Given the description of an element on the screen output the (x, y) to click on. 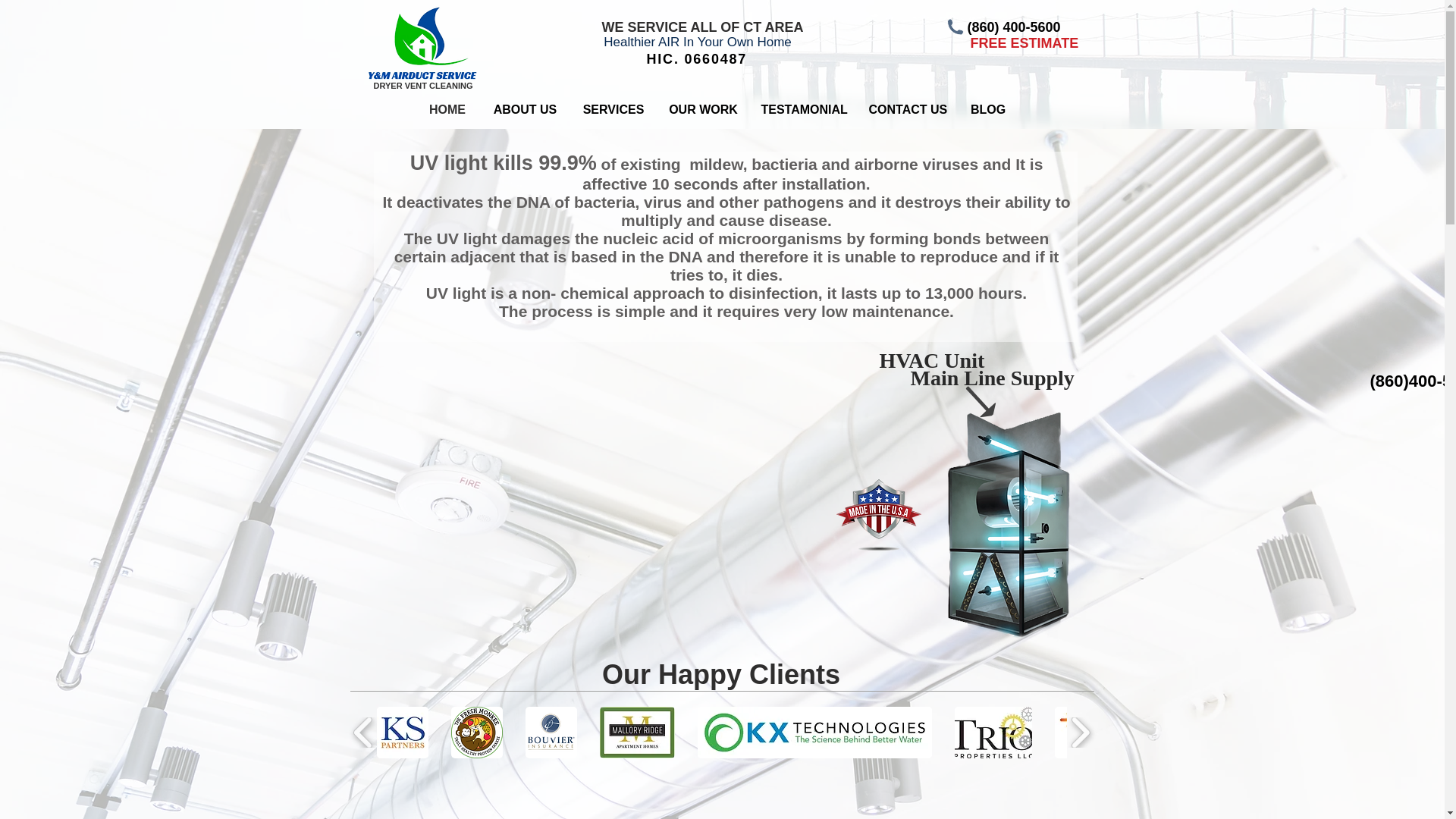
OUR WORK (702, 109)
BLOG (988, 109)
ABOUT US (525, 109)
SERVICES (614, 109)
CONTACT US (906, 109)
kisspng-united-states-logo-made-in-usa-m (878, 515)
HOME (446, 109)
TESTAMONIAL (803, 109)
